Given the description of an element on the screen output the (x, y) to click on. 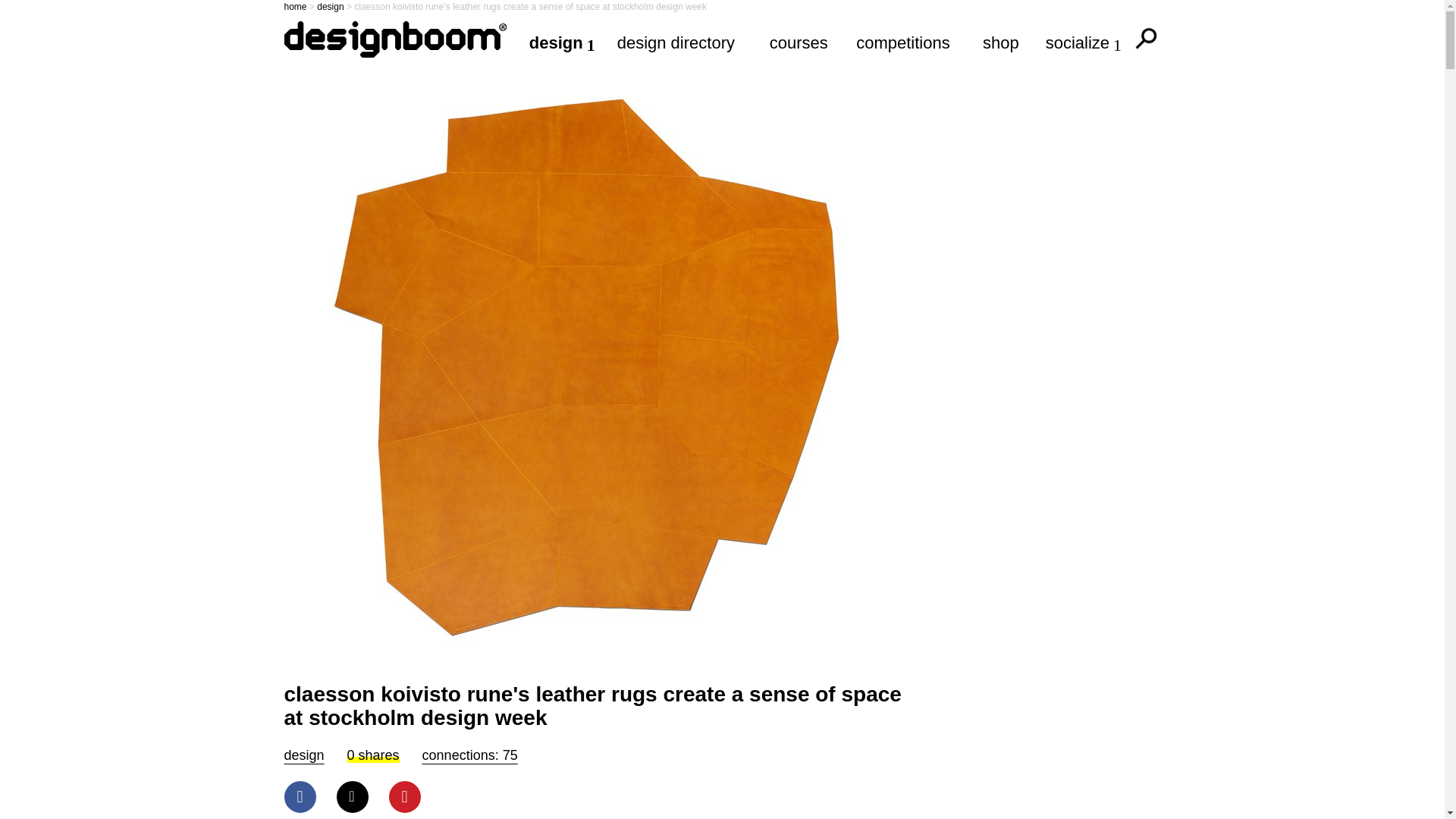
design directory (681, 42)
design (561, 42)
socialize (1085, 42)
design (303, 755)
shop (1002, 42)
design (330, 6)
shop (1002, 42)
courses (801, 42)
design (561, 42)
competitions (907, 42)
home (294, 6)
socialize (1085, 42)
competitions (907, 42)
courses (801, 42)
connections: 75 (470, 755)
